Given the description of an element on the screen output the (x, y) to click on. 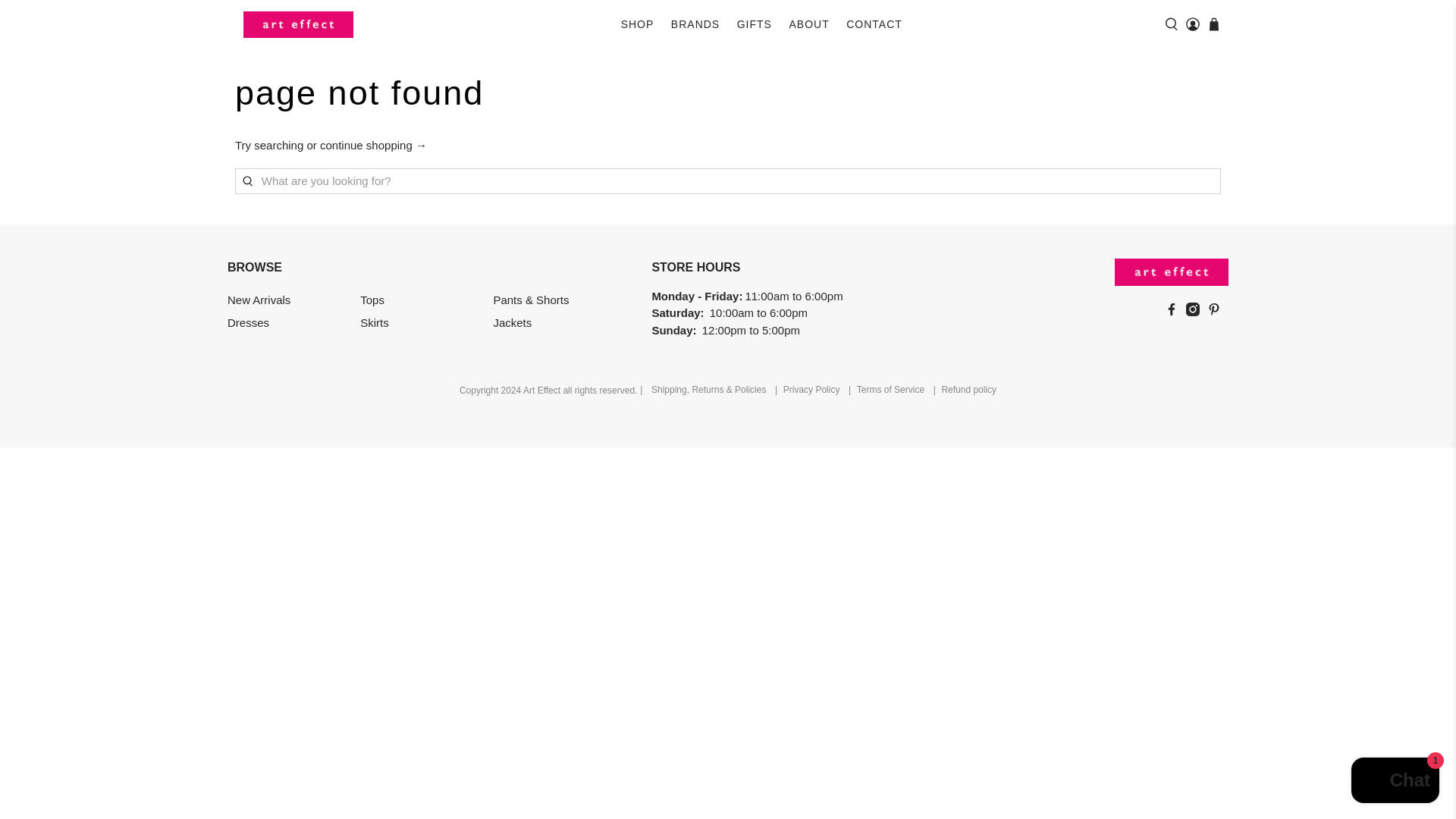
Art Effect (298, 24)
SHOP (636, 24)
Art Effect on Instagram (1196, 311)
Art Effect on Pinterest (1217, 311)
Art Effect on Facebook (1175, 311)
